Given the description of an element on the screen output the (x, y) to click on. 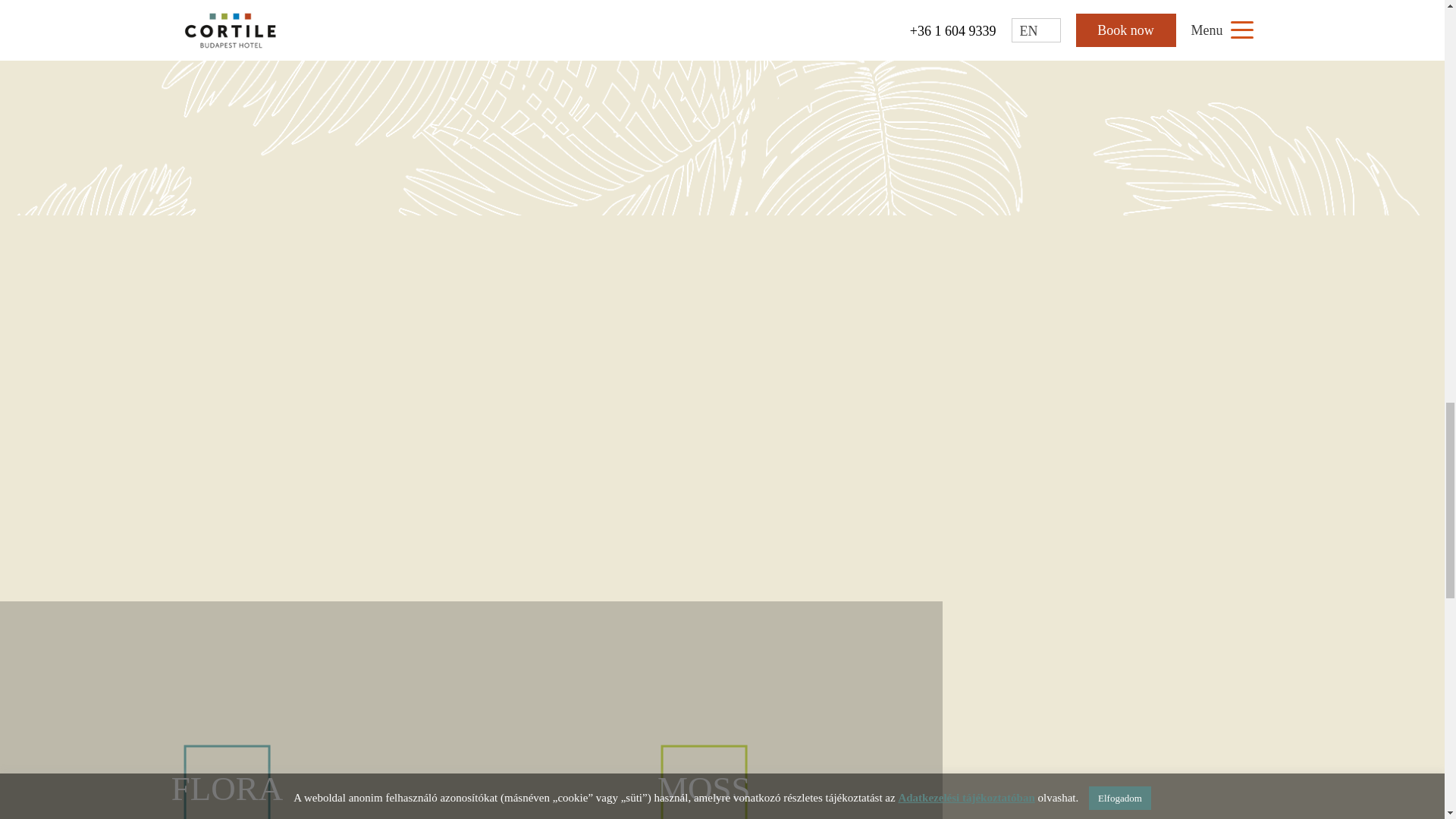
MOSS (703, 710)
FLORA (232, 710)
